Given the description of an element on the screen output the (x, y) to click on. 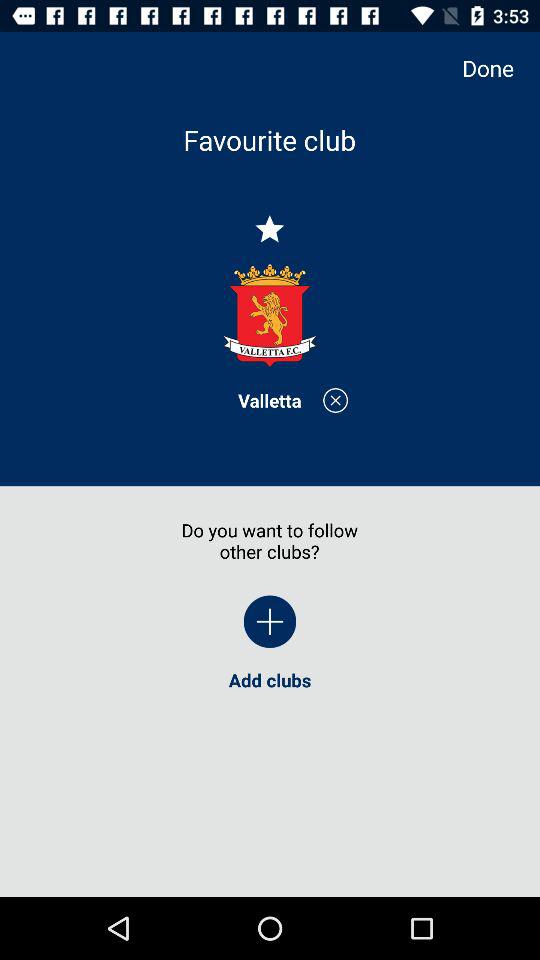
turn on valletta icon (269, 400)
